Given the description of an element on the screen output the (x, y) to click on. 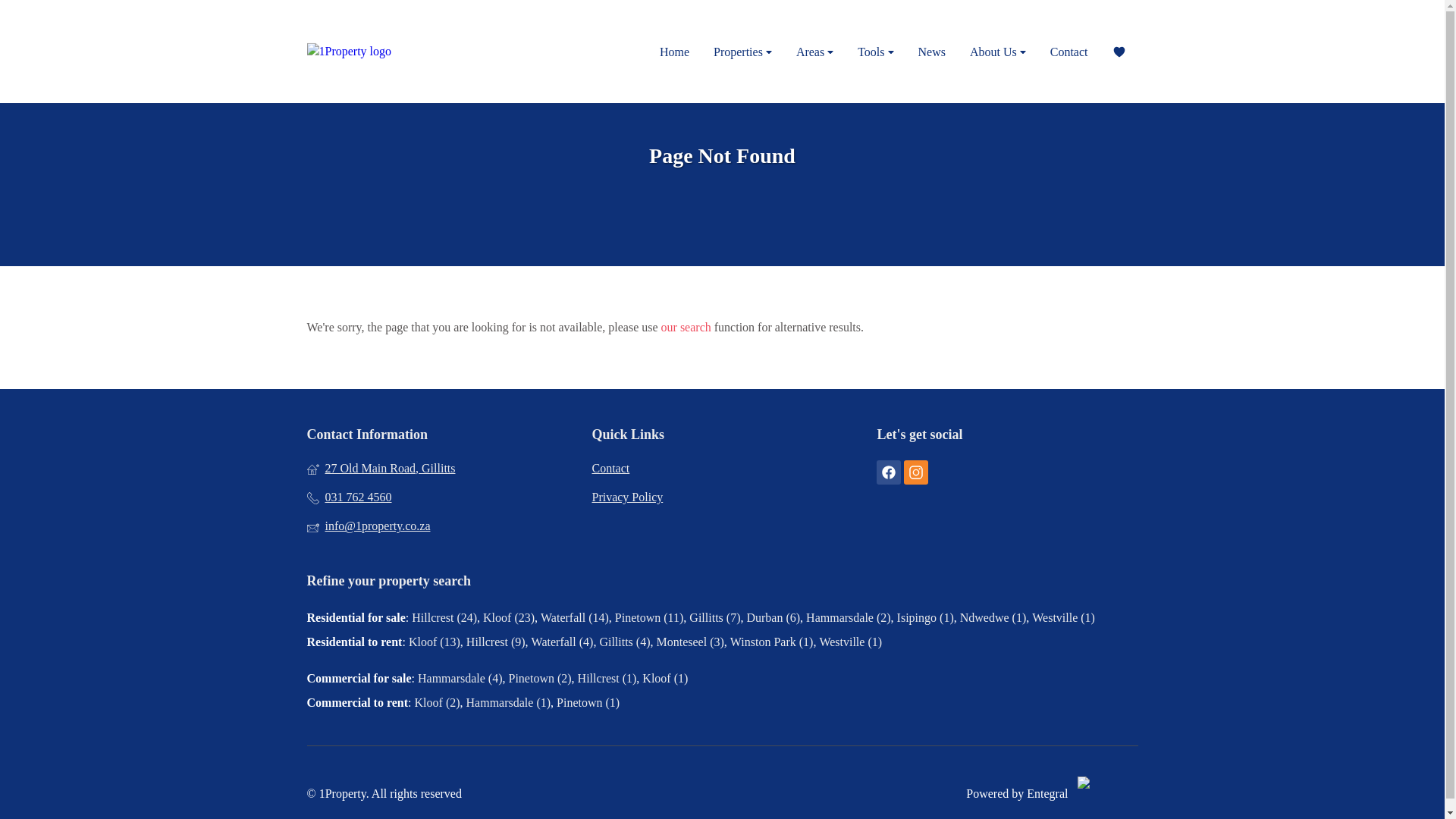
on (13, 13)
Residential, commercial property for sale Upper Highway (47, 27)
